Given the description of an element on the screen output the (x, y) to click on. 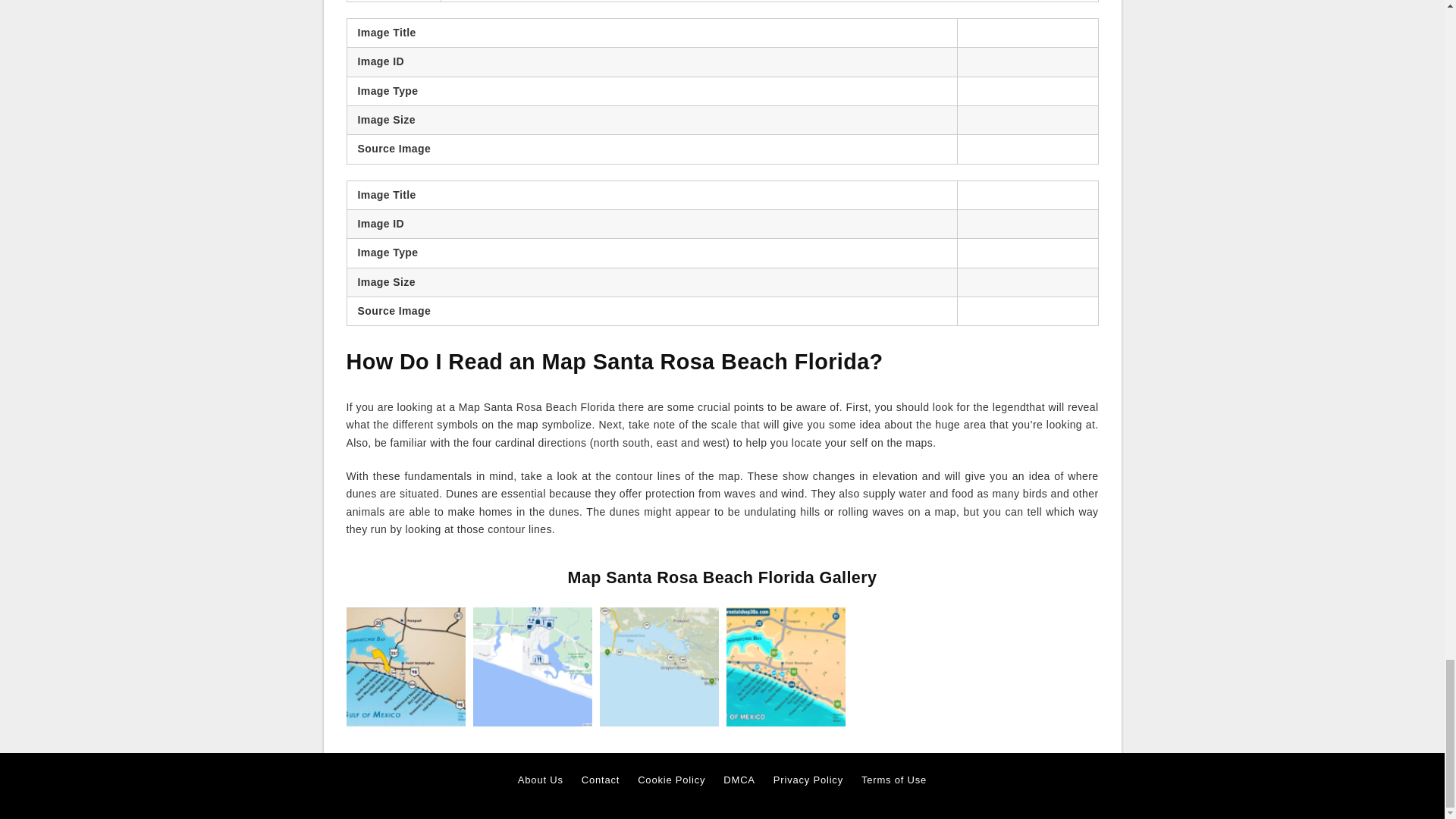
Contact (600, 780)
Privacy Policy (808, 780)
DMCA (738, 780)
SANTA ROSA BEACH List AllTrails (657, 666)
SANTA ROSA BEACH List AllTrails (657, 665)
Santa Rosa Beach Fl Map (532, 666)
Terms of Use (893, 780)
About Us (540, 780)
Cookie Policy (670, 780)
